Given the description of an element on the screen output the (x, y) to click on. 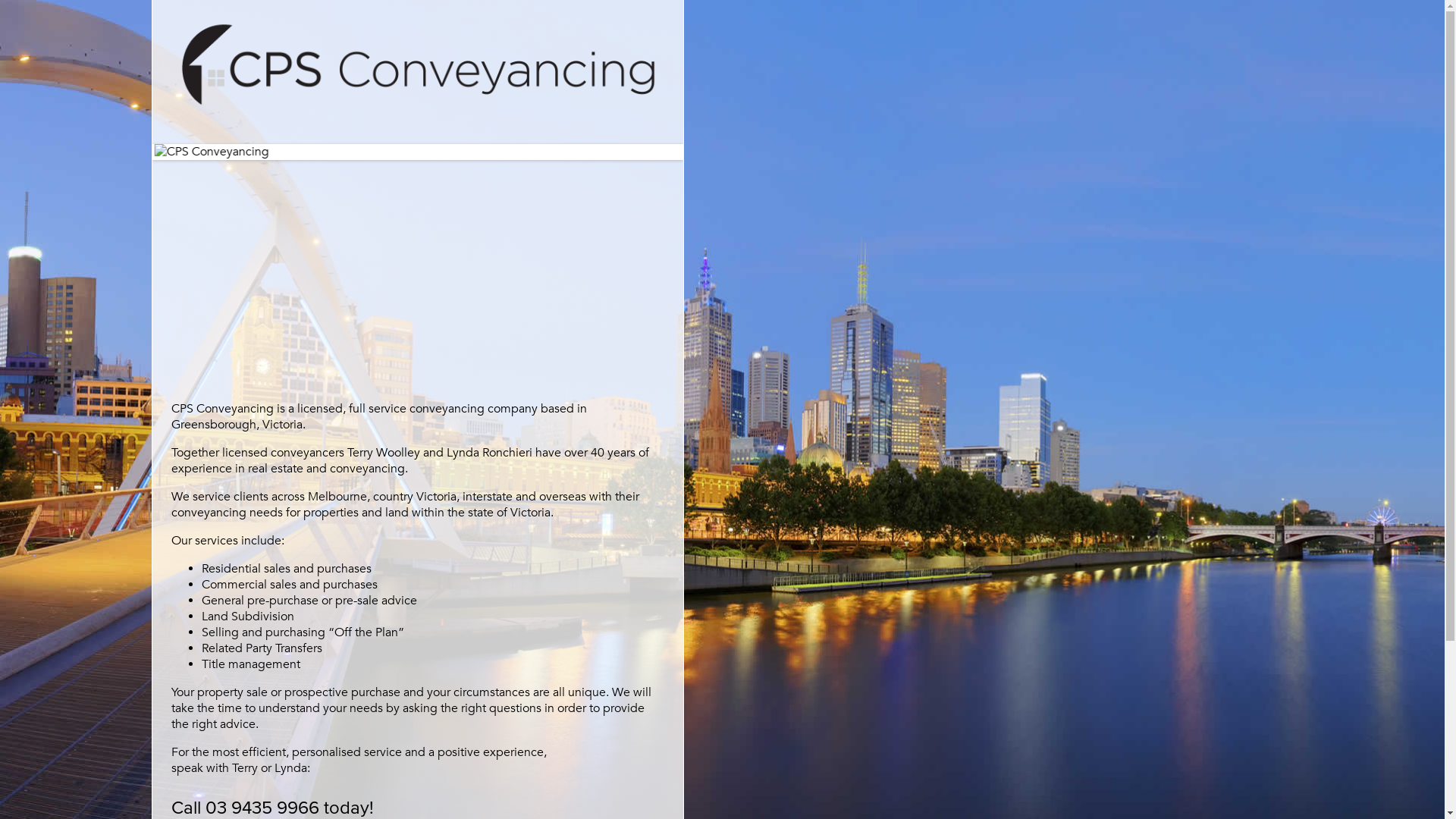
Call 03 9435 9966 today! Element type: text (272, 807)
CPS Conveyancing Element type: hover (469, 152)
